Given the description of an element on the screen output the (x, y) to click on. 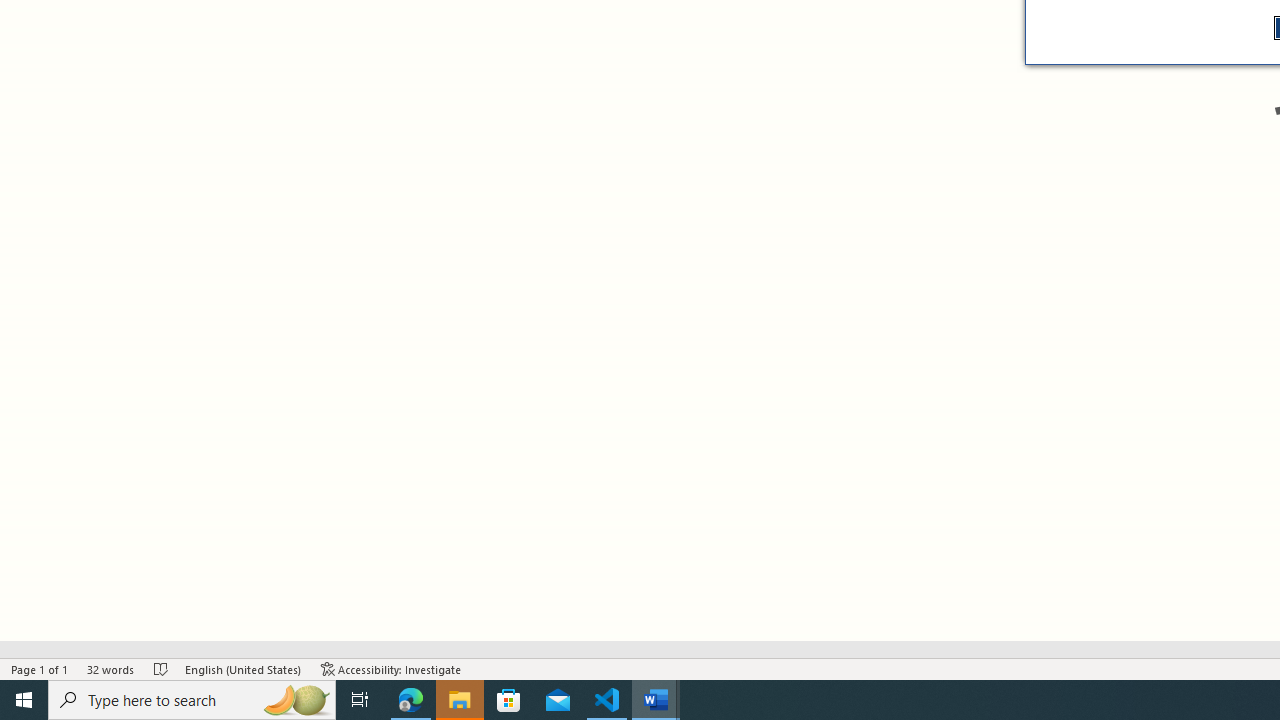
Page Number Page 1 of 1 (39, 668)
Microsoft Edge - 1 running window (411, 699)
Word Count 32 words (111, 668)
Spelling and Grammar Check No Errors (161, 668)
File Explorer - 1 running window (460, 699)
Word - 2 running windows (656, 699)
